Given the description of an element on the screen output the (x, y) to click on. 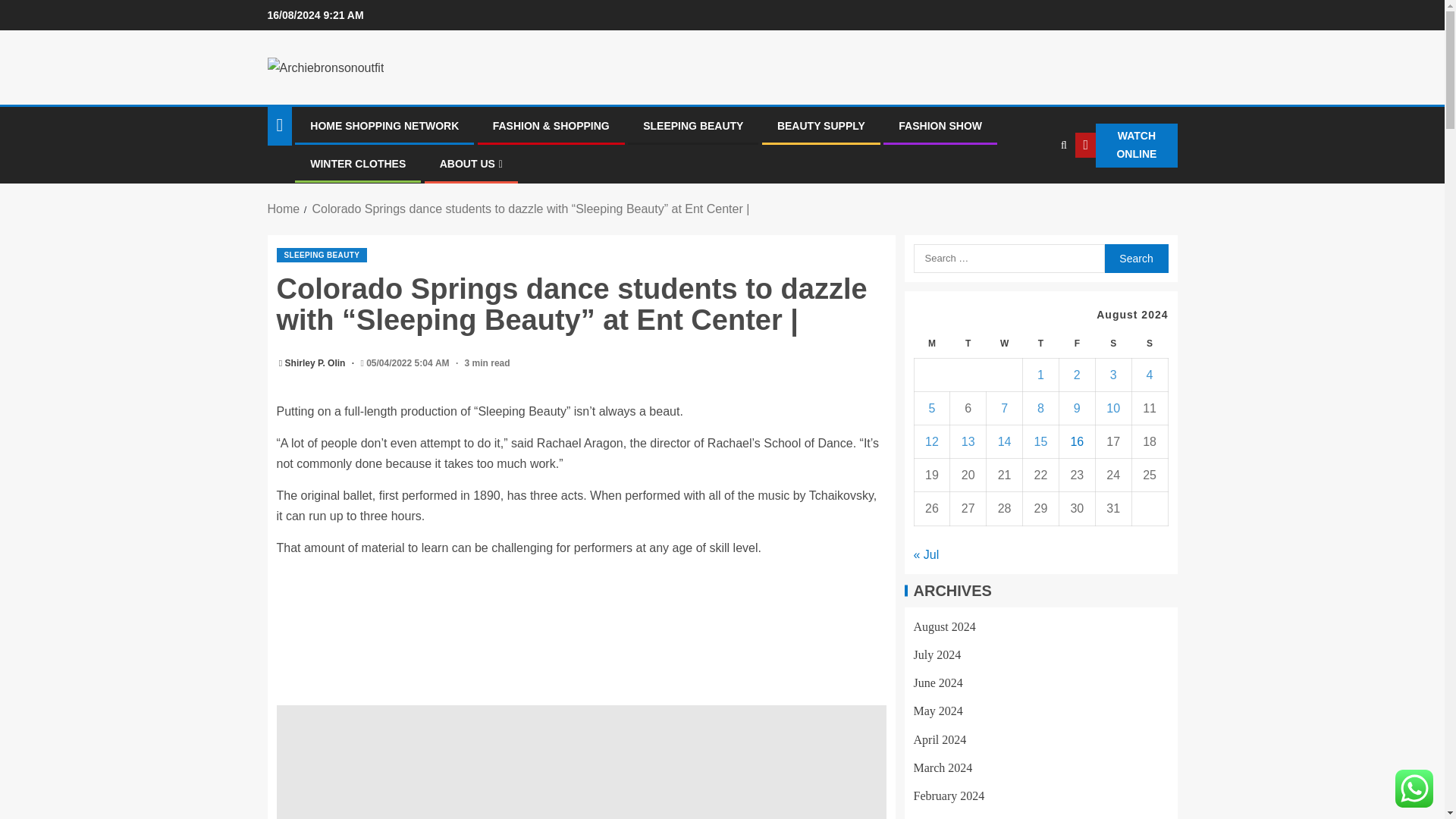
Sunday (1149, 343)
ABOUT US (470, 163)
WATCH ONLINE (1125, 145)
Monday (932, 343)
Thursday (1041, 343)
FASHION SHOW (939, 125)
Search (1032, 191)
Search (1135, 258)
Home (282, 208)
BEAUTY SUPPLY (820, 125)
